Given the description of an element on the screen output the (x, y) to click on. 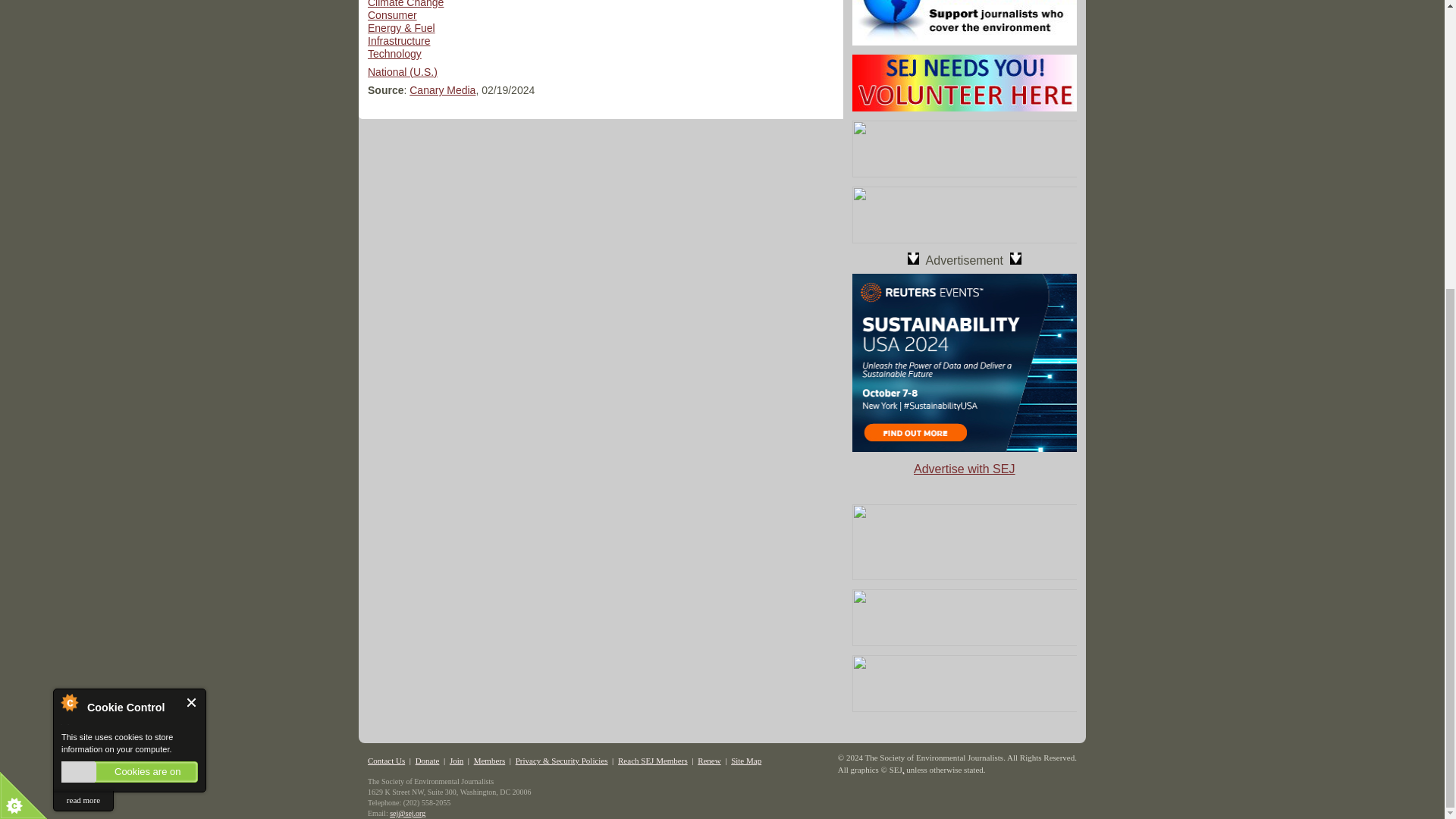
Close (191, 264)
read more (82, 362)
Cookies are on (129, 333)
